Given the description of an element on the screen output the (x, y) to click on. 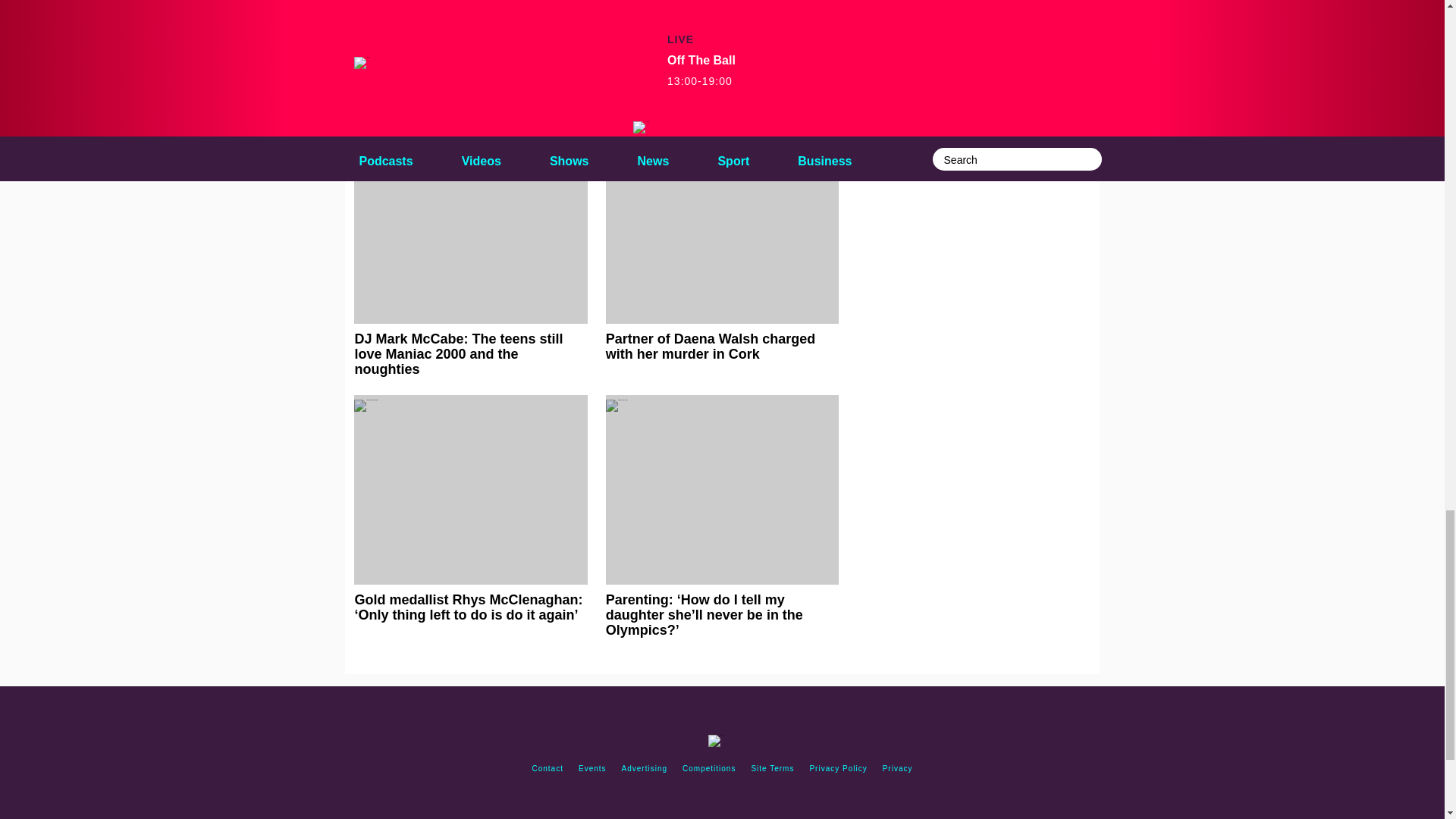
Privacy Policy (838, 768)
Partner of Daena Walsh charged with her murder in Cork  (721, 247)
events (592, 768)
LYNSEY BENNETT (526, 37)
advertising (644, 768)
competitions (708, 768)
site terms (772, 768)
CERVICALCHECK (405, 37)
contact (547, 768)
Privacy (897, 768)
